Given the description of an element on the screen output the (x, y) to click on. 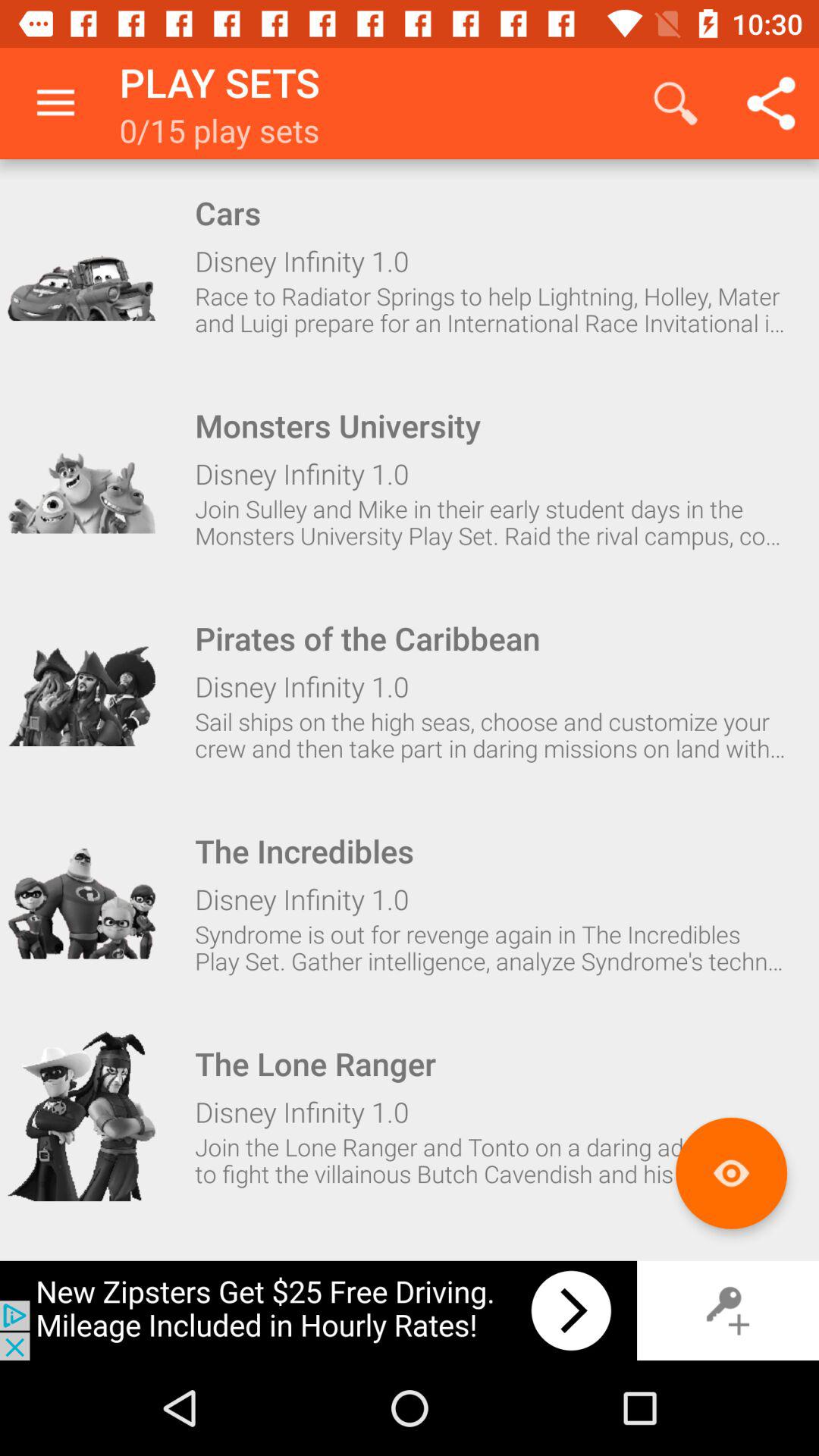
play set (81, 477)
